Given the description of an element on the screen output the (x, y) to click on. 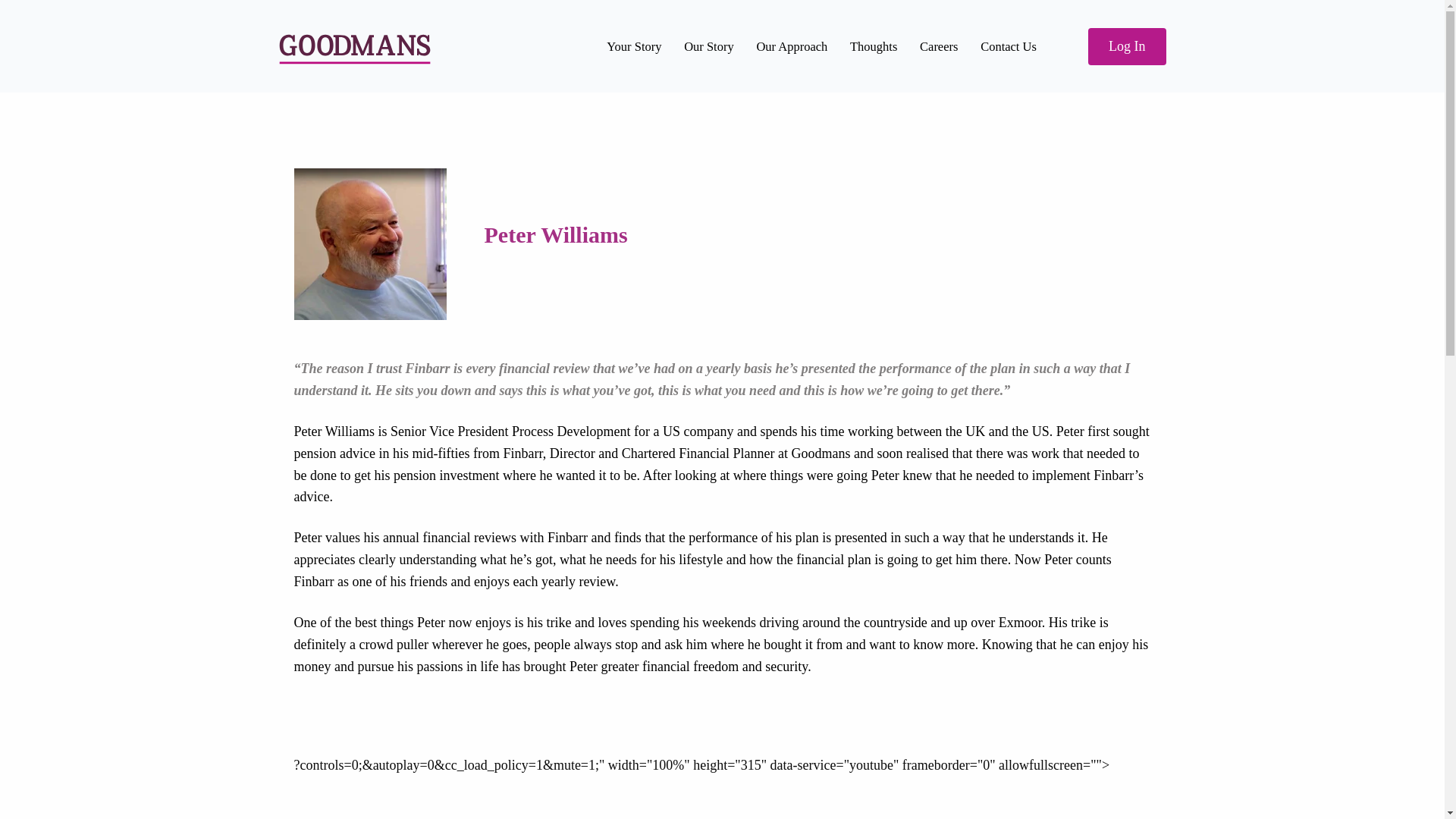
Our Approach (791, 47)
Contact Us (1007, 47)
Group 220572 (354, 49)
Thoughts (873, 47)
Your Story (634, 47)
YouTube video player (722, 788)
Careers (939, 47)
Log In (1126, 46)
Our Story (708, 47)
